Given the description of an element on the screen output the (x, y) to click on. 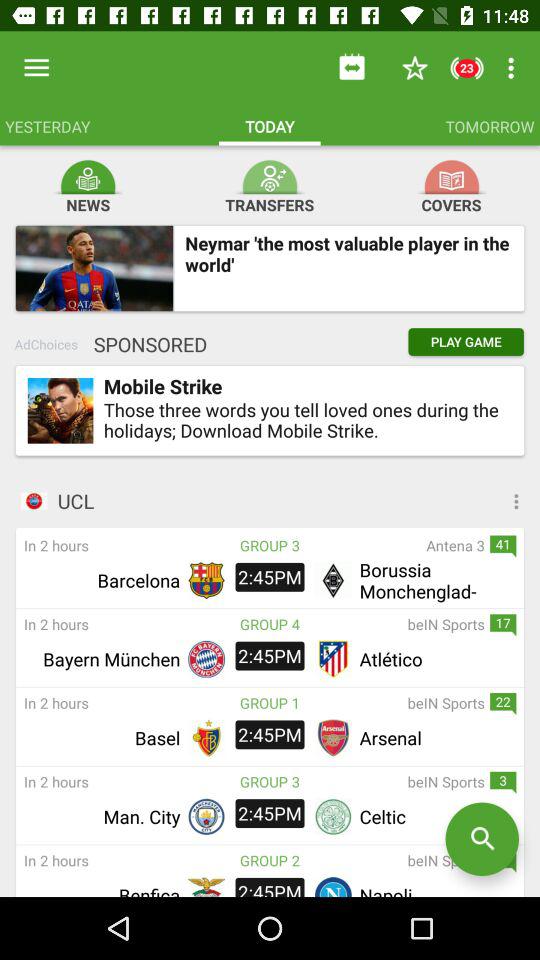
turn on the item next to group 3 (392, 545)
